Given the description of an element on the screen output the (x, y) to click on. 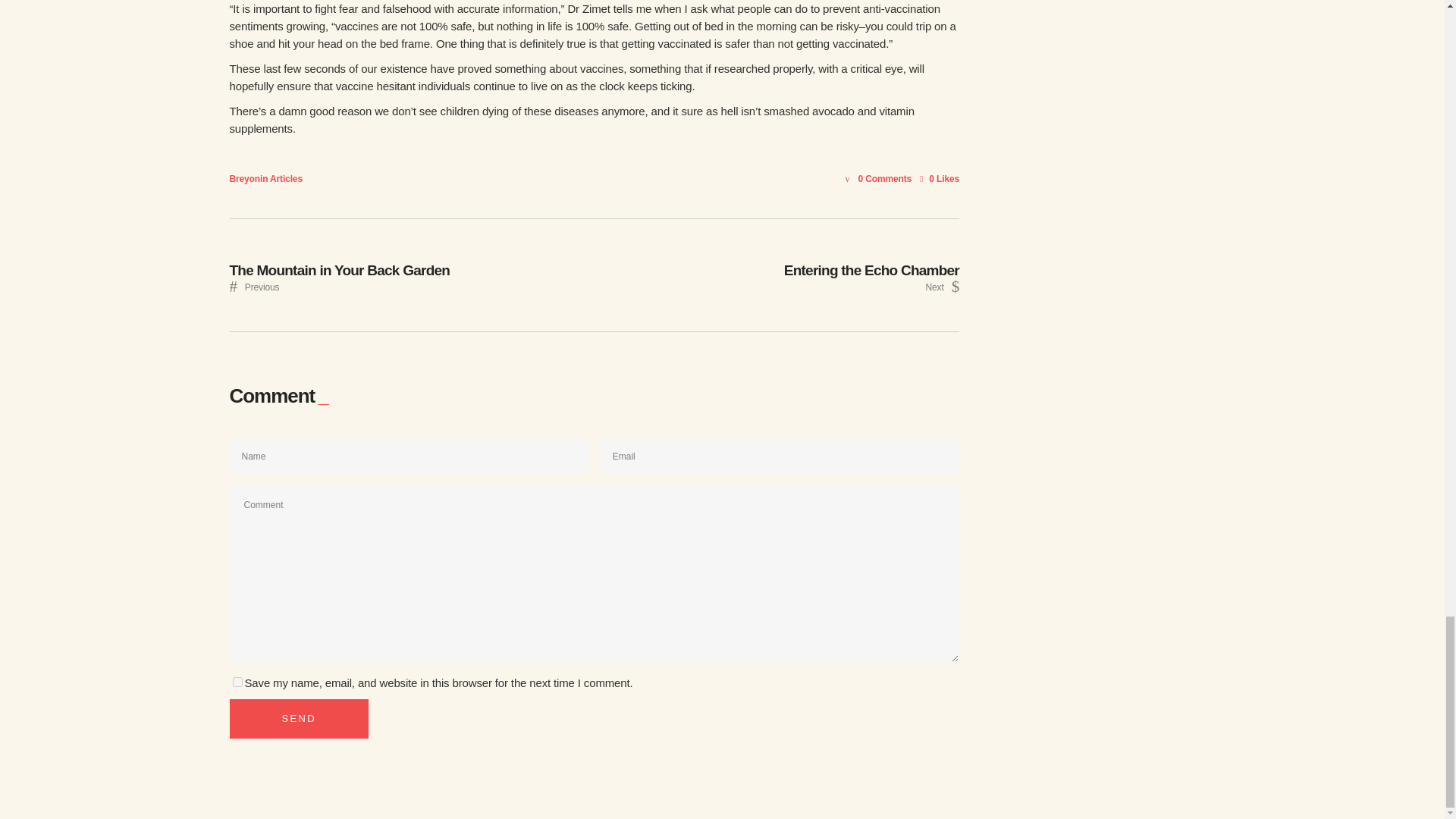
Send (411, 274)
Send (298, 718)
Articles (298, 718)
Like this (285, 178)
0 Likes (939, 178)
yes (939, 178)
Breyon (776, 274)
0 Comments (236, 682)
